Given the description of an element on the screen output the (x, y) to click on. 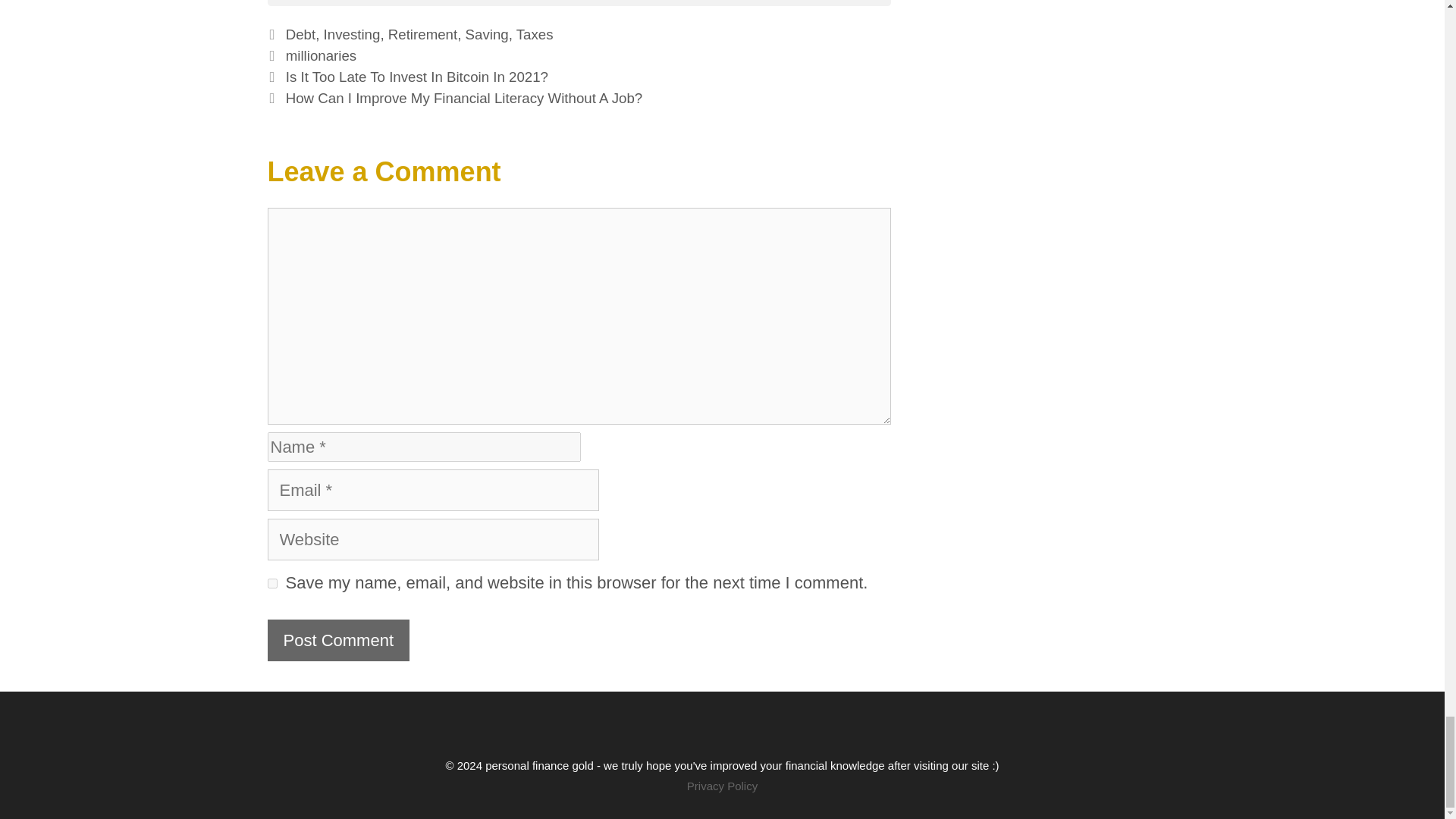
Taxes (534, 34)
Is It Too Late To Invest In Bitcoin In 2021? (416, 76)
Post Comment (337, 639)
Post Comment (337, 639)
Debt (300, 34)
Retirement (422, 34)
Saving (486, 34)
Investing (351, 34)
How Can I Improve My Financial Literacy Without A Job? (464, 98)
yes (271, 583)
millionaries (320, 55)
